Given the description of an element on the screen output the (x, y) to click on. 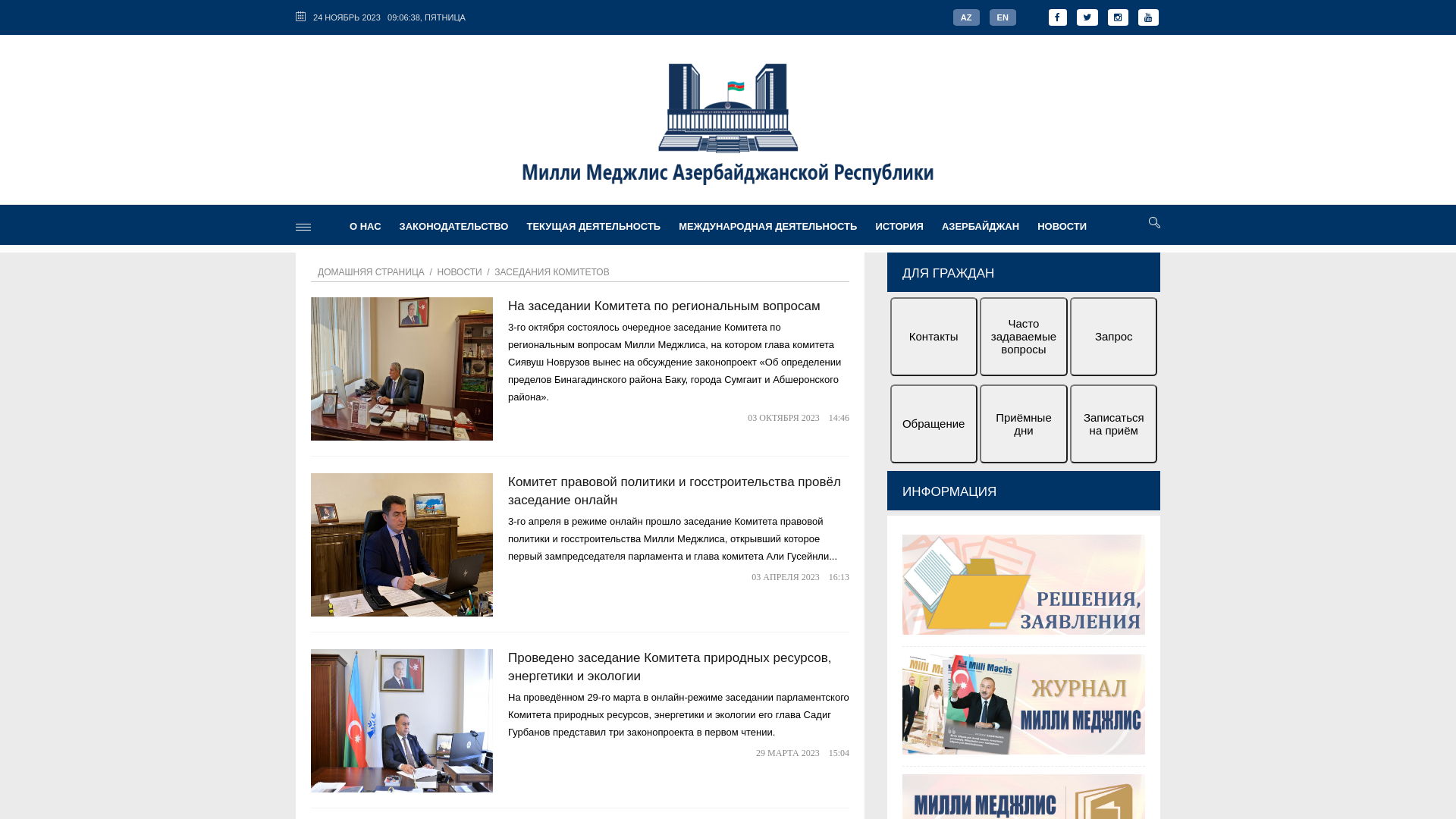
EN Element type: text (1002, 16)
AZ Element type: text (966, 16)
menyu Element type: text (302, 226)
